Given the description of an element on the screen output the (x, y) to click on. 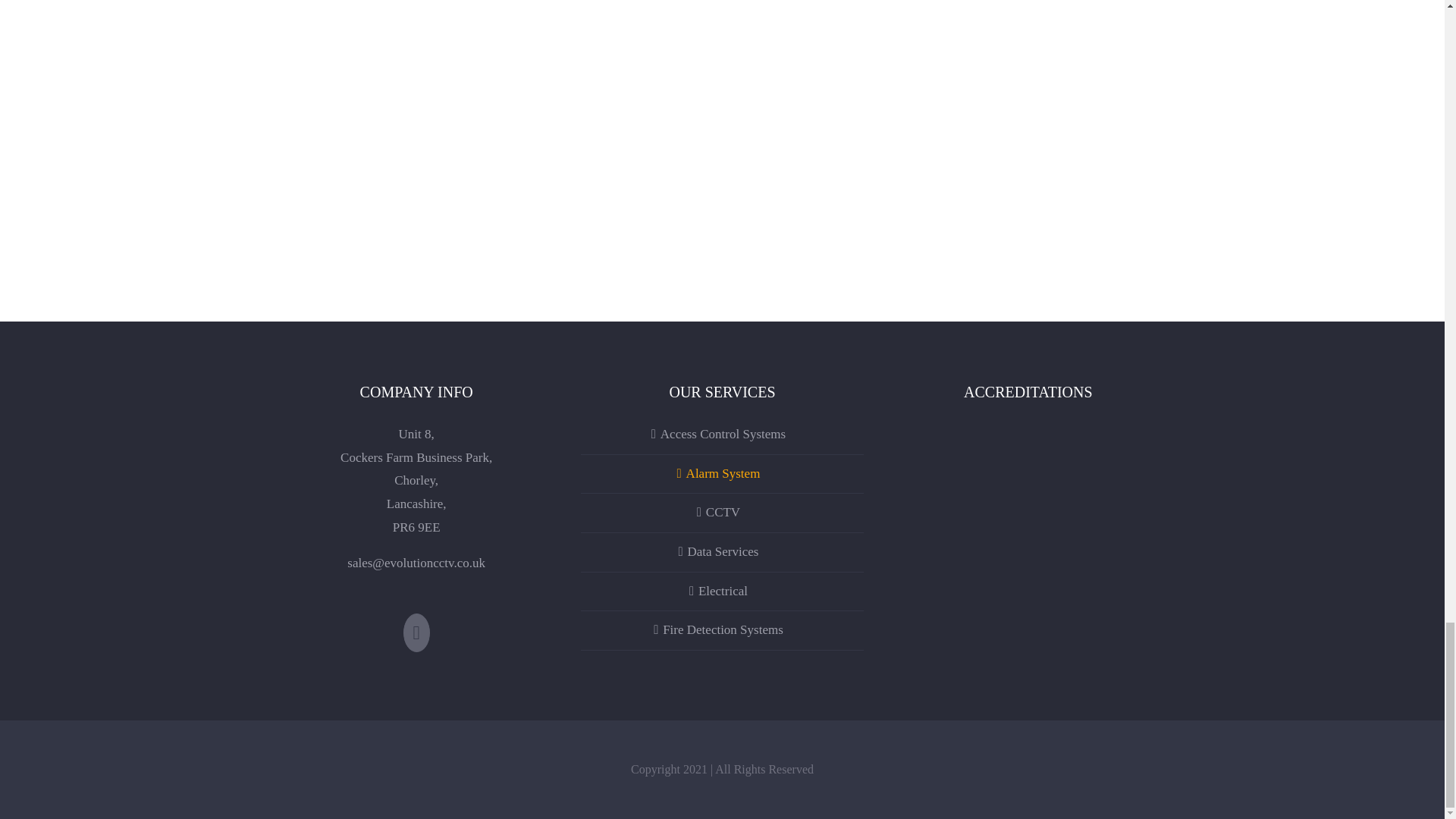
Accreditation's (1027, 503)
